Given the description of an element on the screen output the (x, y) to click on. 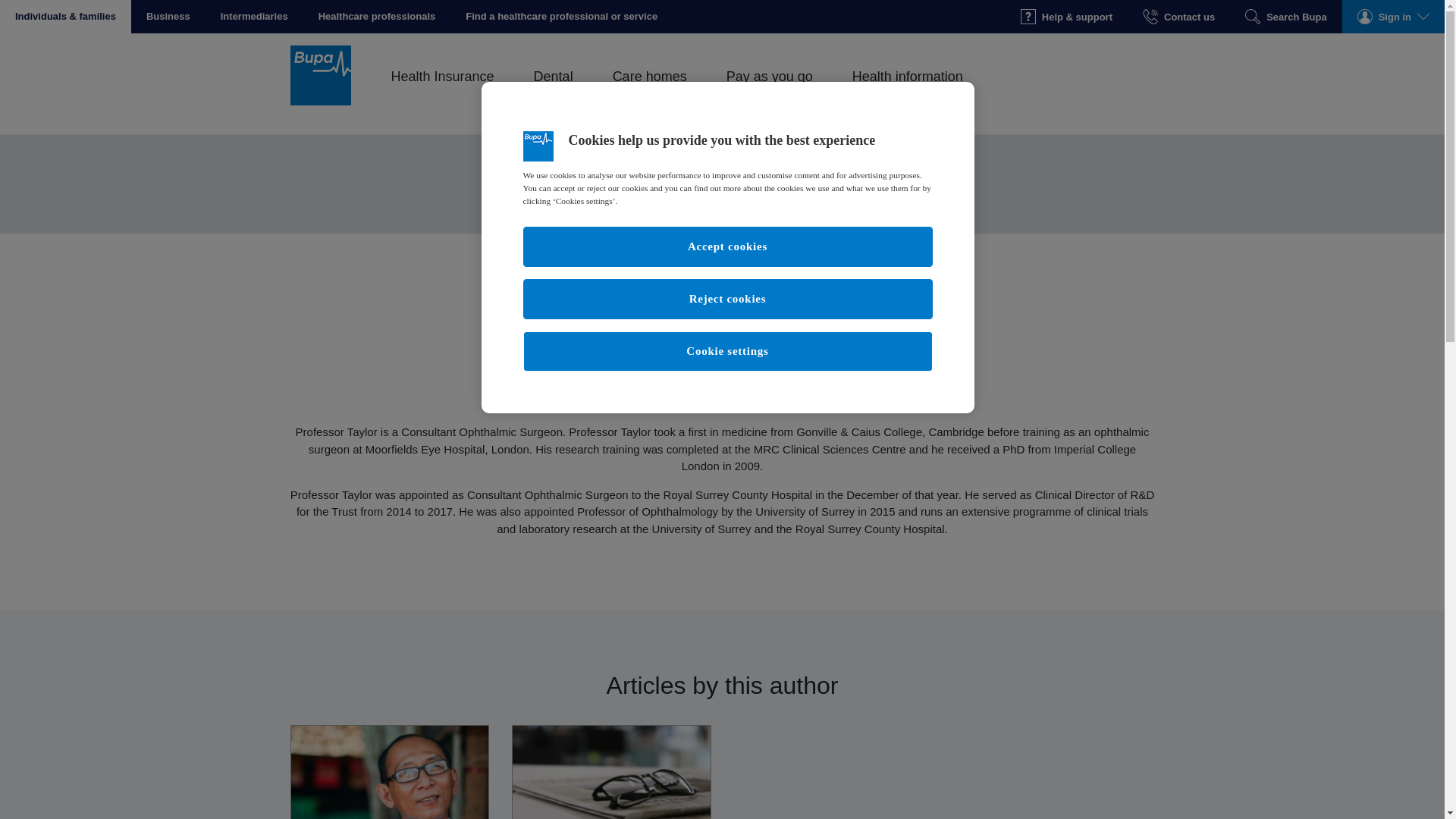
Healthcare professionals (376, 16)
Search Bupa (1285, 16)
Intermediaries (253, 16)
Find a healthcare professional or service (560, 16)
Dental (553, 92)
Health Insurance (442, 92)
Contact us (1178, 16)
Pay as you go (769, 92)
Health information (907, 92)
Business (168, 16)
